Given the description of an element on the screen output the (x, y) to click on. 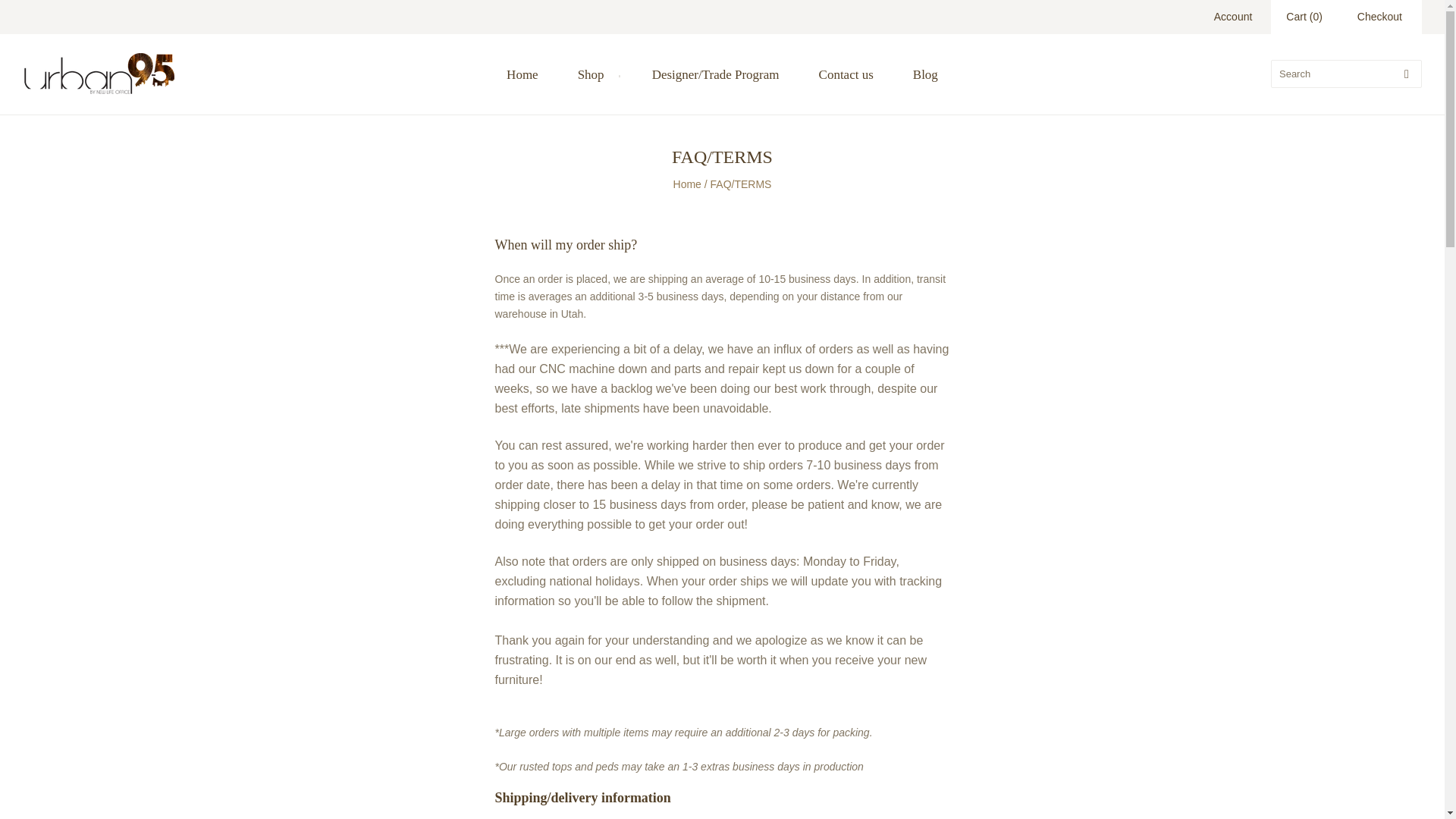
Blog (925, 74)
Contact us (846, 74)
Home (521, 74)
Checkout (1379, 16)
Account (1233, 16)
